Given the description of an element on the screen output the (x, y) to click on. 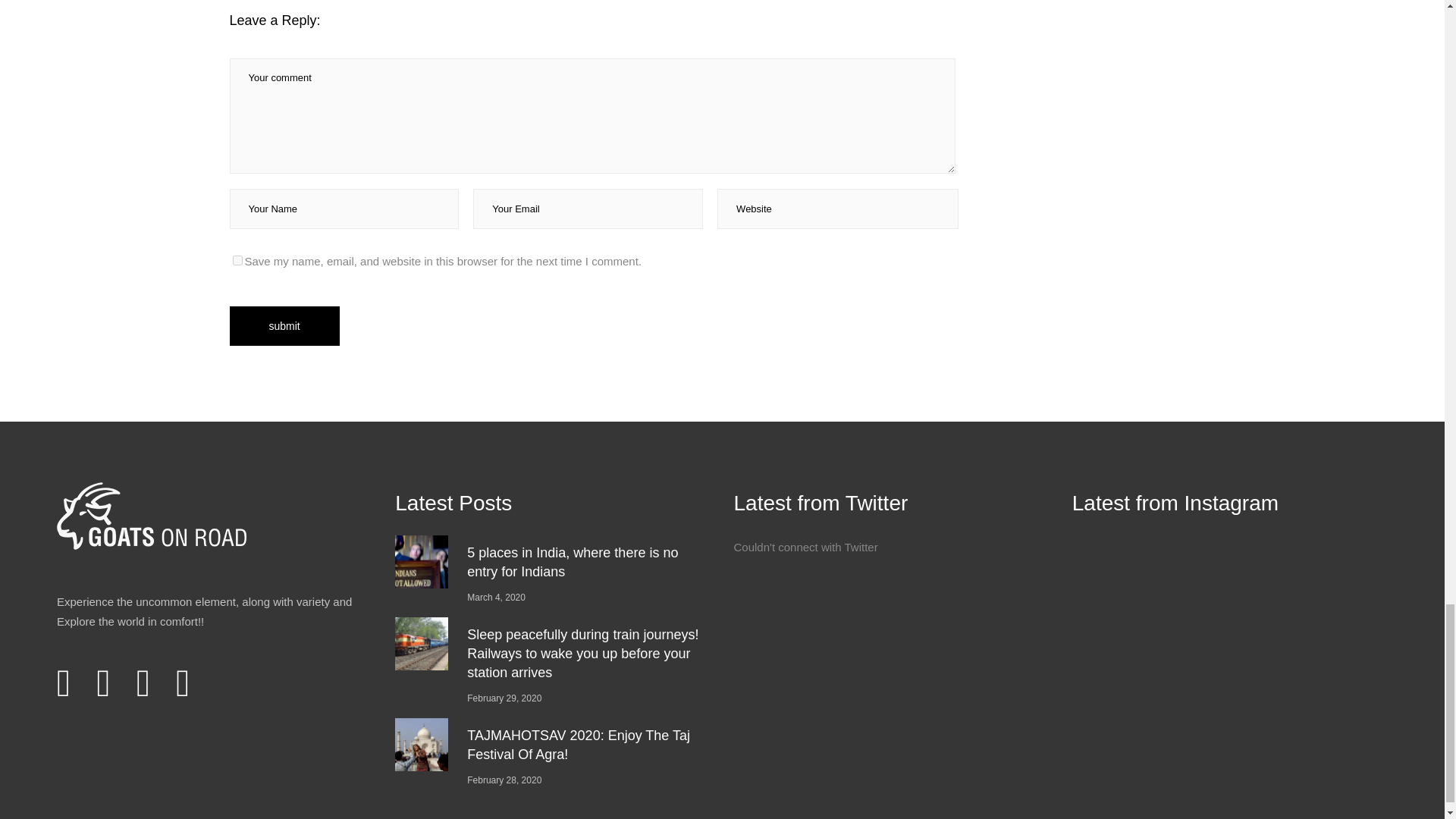
Submit (283, 325)
yes (236, 260)
